Given the description of an element on the screen output the (x, y) to click on. 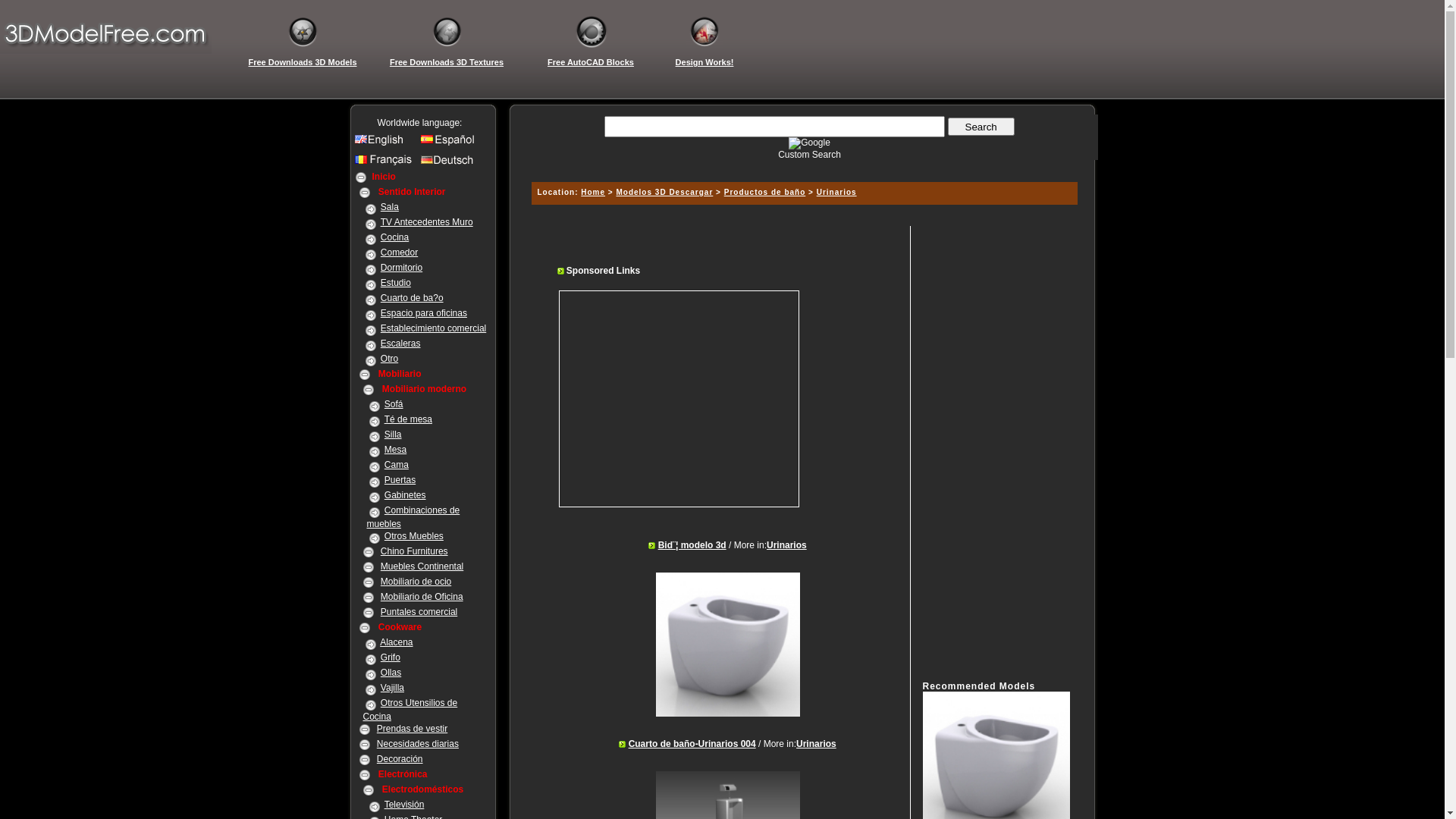
Mobiliario de Oficina Element type: text (421, 596)
Combinaciones de muebles Element type: text (413, 517)
Vajilla Element type: text (392, 687)
Urinarios Element type: text (836, 192)
Mobiliario de ocio Element type: text (415, 581)
Advertisement Element type: hover (802, 165)
Prendas de vestir Element type: text (411, 728)
Cookware Element type: text (399, 626)
Mobiliario Element type: text (399, 373)
Dormitorio Element type: text (401, 267)
Grifo Element type: text (390, 657)
Urinarios Element type: text (786, 544)
Espacio para oficinas Element type: text (423, 312)
TV Antecedentes Muro Element type: text (426, 221)
Otros Utensilios de Cocina Element type: text (409, 709)
Germany site Element type: hover (450, 163)
France site Element type: hover (384, 163)
Establecimiento comercial Element type: text (433, 328)
Estudio Element type: text (395, 282)
Escaleras Element type: text (400, 343)
Urinarios Element type: text (816, 743)
Modelos 3D Descargar Element type: text (663, 192)
Sala Element type: text (389, 206)
Advertisement Element type: hover (688, 398)
Muebles Continental Element type: text (421, 566)
Advertisement Element type: hover (982, 452)
Free Downloads 3D Models Element type: text (302, 61)
Otros Muebles Element type: text (413, 535)
Silla Element type: text (392, 434)
Design Works! Element type: text (703, 61)
Free AutoCAD Blocks Element type: text (590, 61)
English site Element type: hover (384, 143)
Cocina Element type: text (394, 237)
Comedor Element type: text (398, 252)
Cama Element type: text (396, 464)
Spanish site Element type: hover (450, 143)
Puntales comercial Element type: text (418, 611)
Sentido Interior Element type: text (411, 191)
Necesidades diarias Element type: text (417, 743)
Gabinetes Element type: text (405, 494)
Puertas Element type: text (399, 479)
Mobiliario moderno Element type: text (423, 388)
Otro Element type: text (389, 358)
Free Downloads 3D Textures Element type: text (446, 61)
Ollas Element type: text (390, 672)
Chino Furnitures Element type: text (414, 551)
Mesa Element type: text (395, 449)
Inicio Element type: text (383, 176)
    Search     Element type: text (980, 126)
Cuarto de ba?o Element type: text (411, 297)
Home Element type: text (592, 192)
Alacena Element type: text (395, 642)
